Given the description of an element on the screen output the (x, y) to click on. 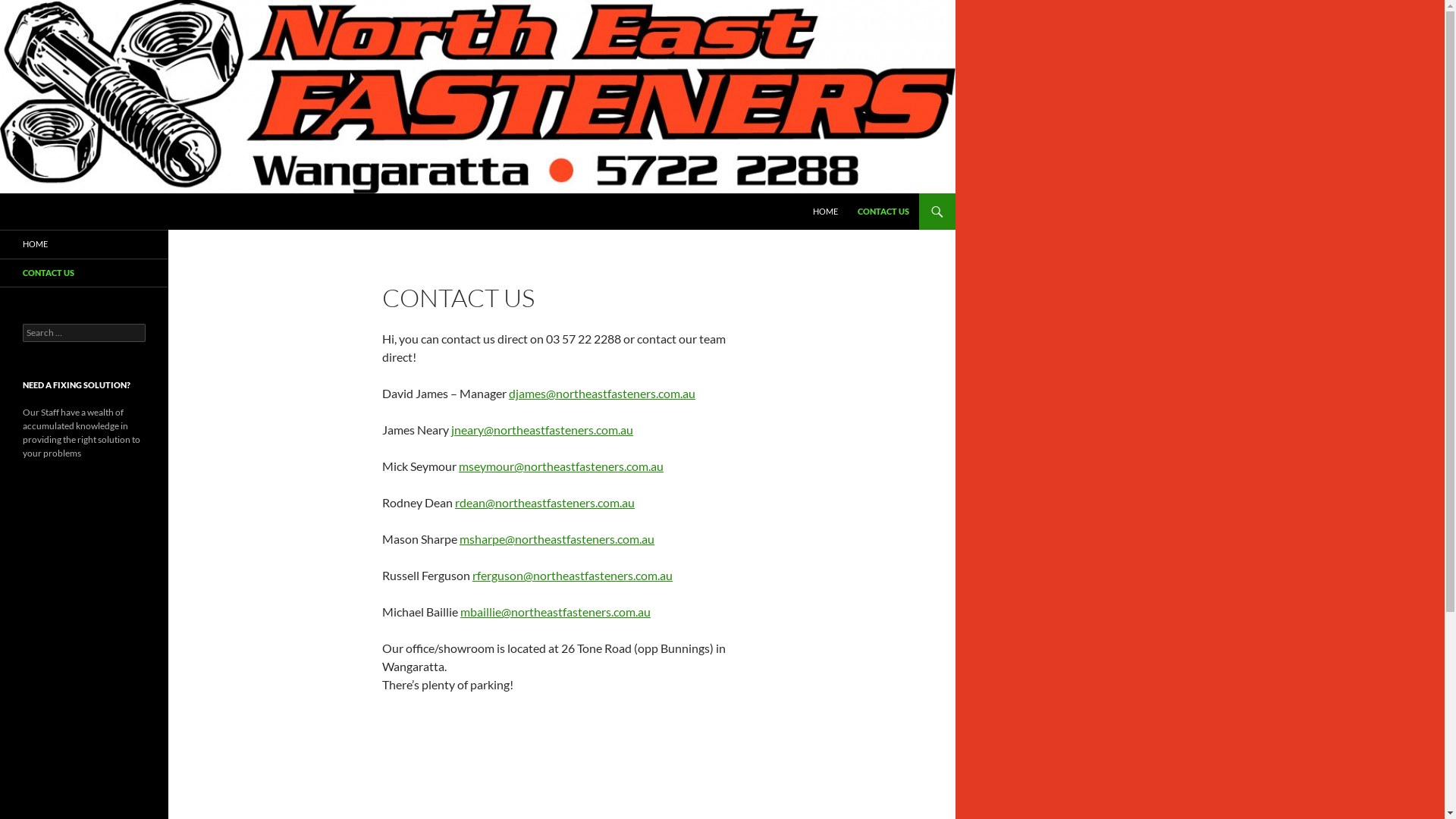
rferguson@northeastfasteners.com.au Element type: text (572, 574)
djames@northeastfasteners.com.au Element type: text (601, 392)
CONTACT US Element type: text (883, 211)
Search Element type: text (3, 193)
Search for: Element type: hover (83, 332)
msharpe@northeastfasteners.com.au Element type: text (556, 538)
rdean@northeastfasteners.com.au Element type: text (544, 502)
Search Element type: text (29, 9)
jneary@northeastfasteners.com.au Element type: text (542, 429)
North East Fasteners Element type: text (85, 211)
HOME Element type: text (825, 211)
HOME Element type: text (84, 244)
CONTACT US Element type: text (84, 273)
mseymour@northeastfasteners.com.au Element type: text (560, 465)
SKIP TO CONTENT Element type: text (812, 193)
mbaillie@northeastfasteners.com.au Element type: text (555, 611)
